Given the description of an element on the screen output the (x, y) to click on. 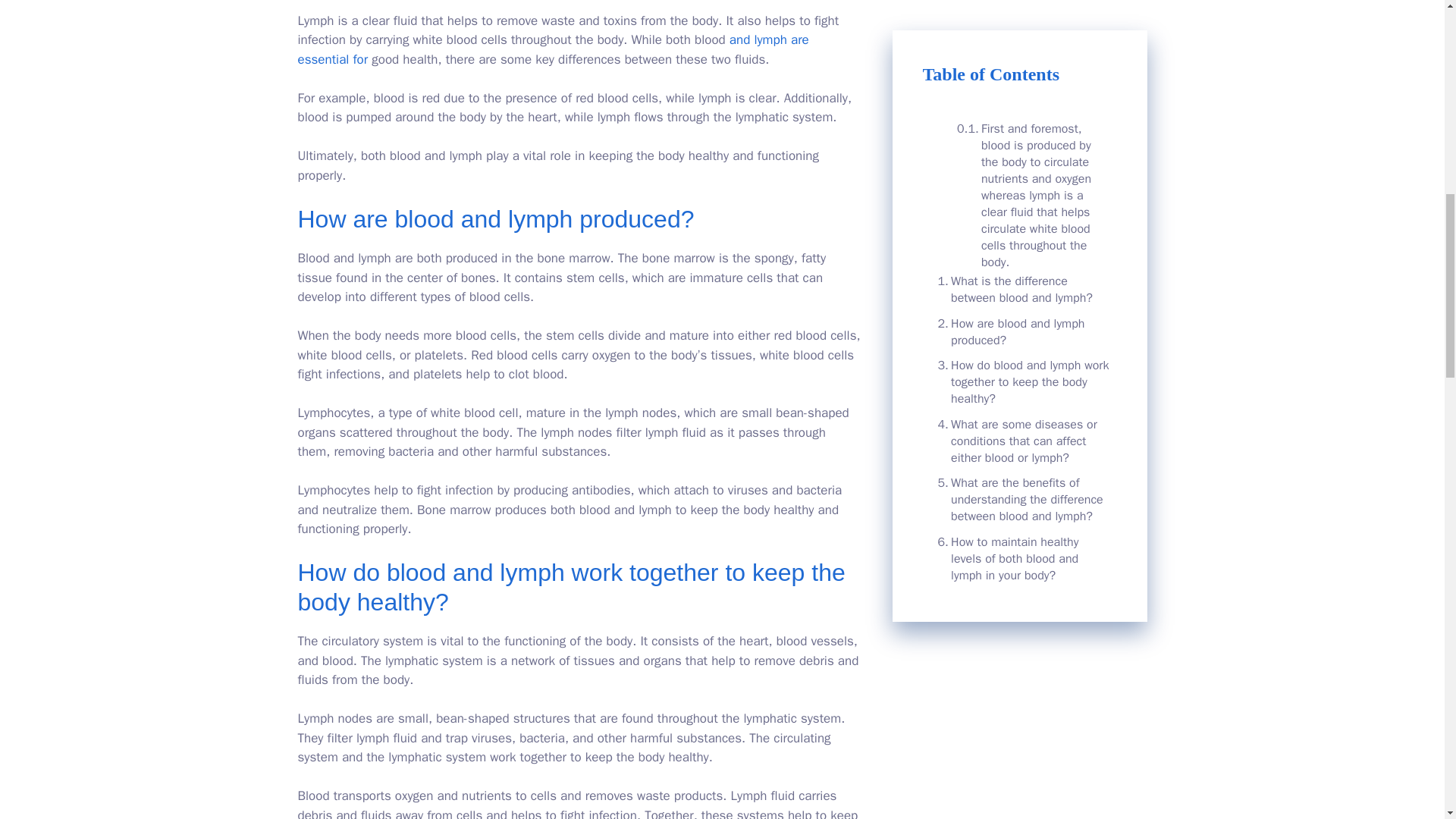
and lymph are essential for (552, 49)
